Given the description of an element on the screen output the (x, y) to click on. 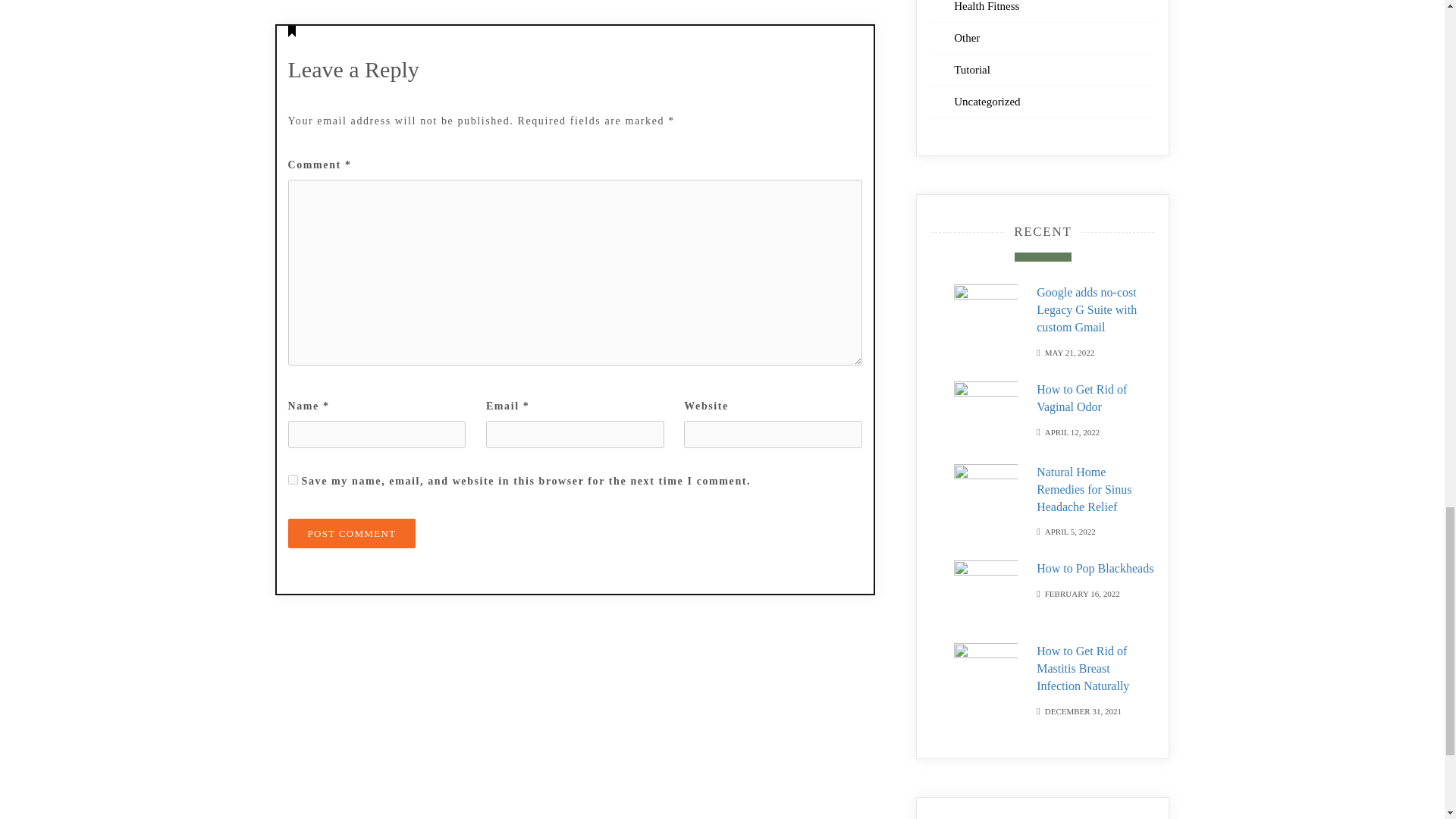
yes (293, 479)
Post Comment (352, 532)
Post Comment (352, 532)
